Given the description of an element on the screen output the (x, y) to click on. 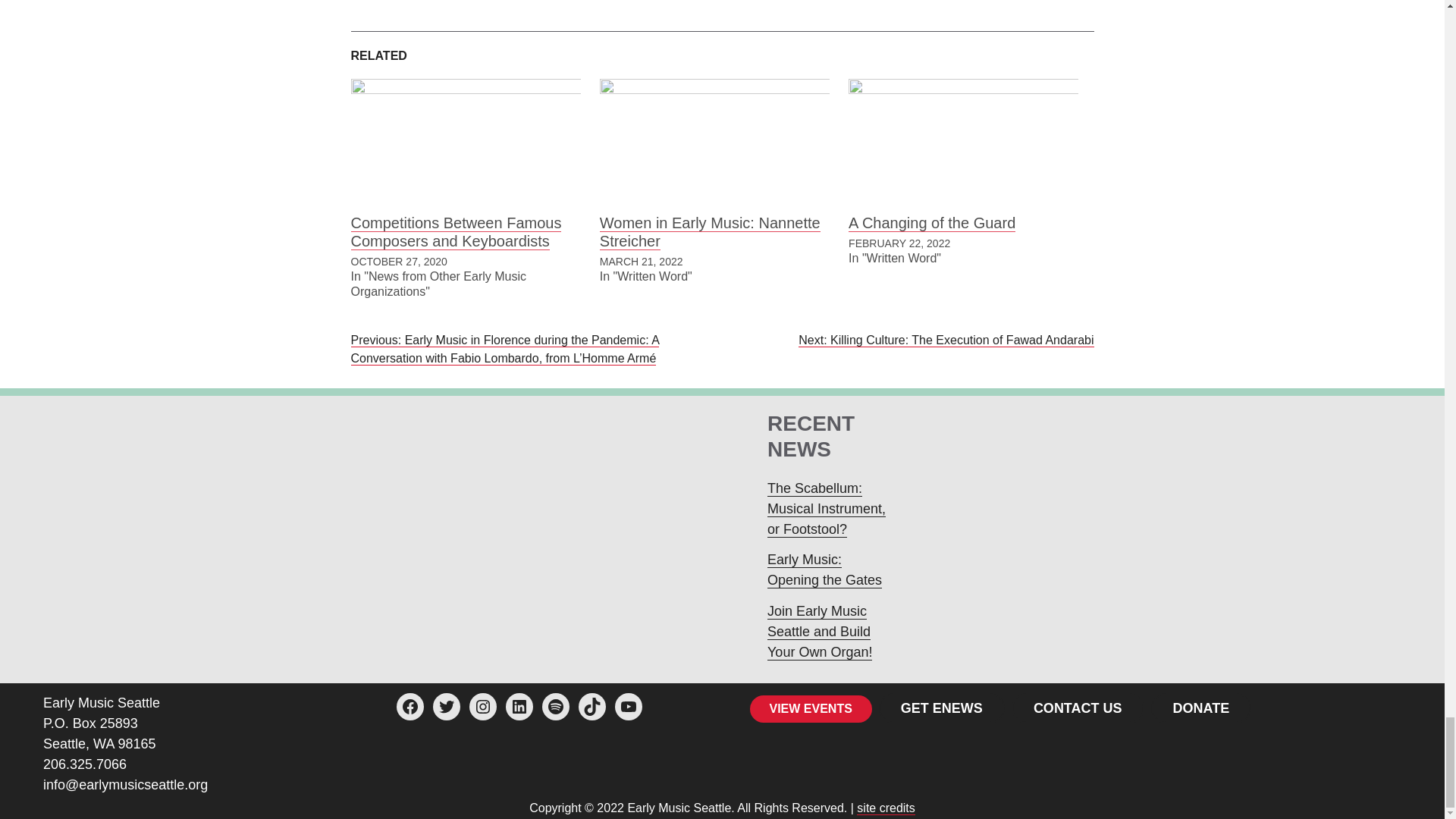
A Changing of the Guard (963, 143)
Competitions Between Famous Composers and Keyboardists (455, 232)
Women in Early Music: Nannette Streicher (710, 232)
Women in Early Music: Nannette Streicher (714, 143)
A Changing of the Guard (931, 222)
Competitions Between Famous Composers and Keyboardists (464, 143)
